Given the description of an element on the screen output the (x, y) to click on. 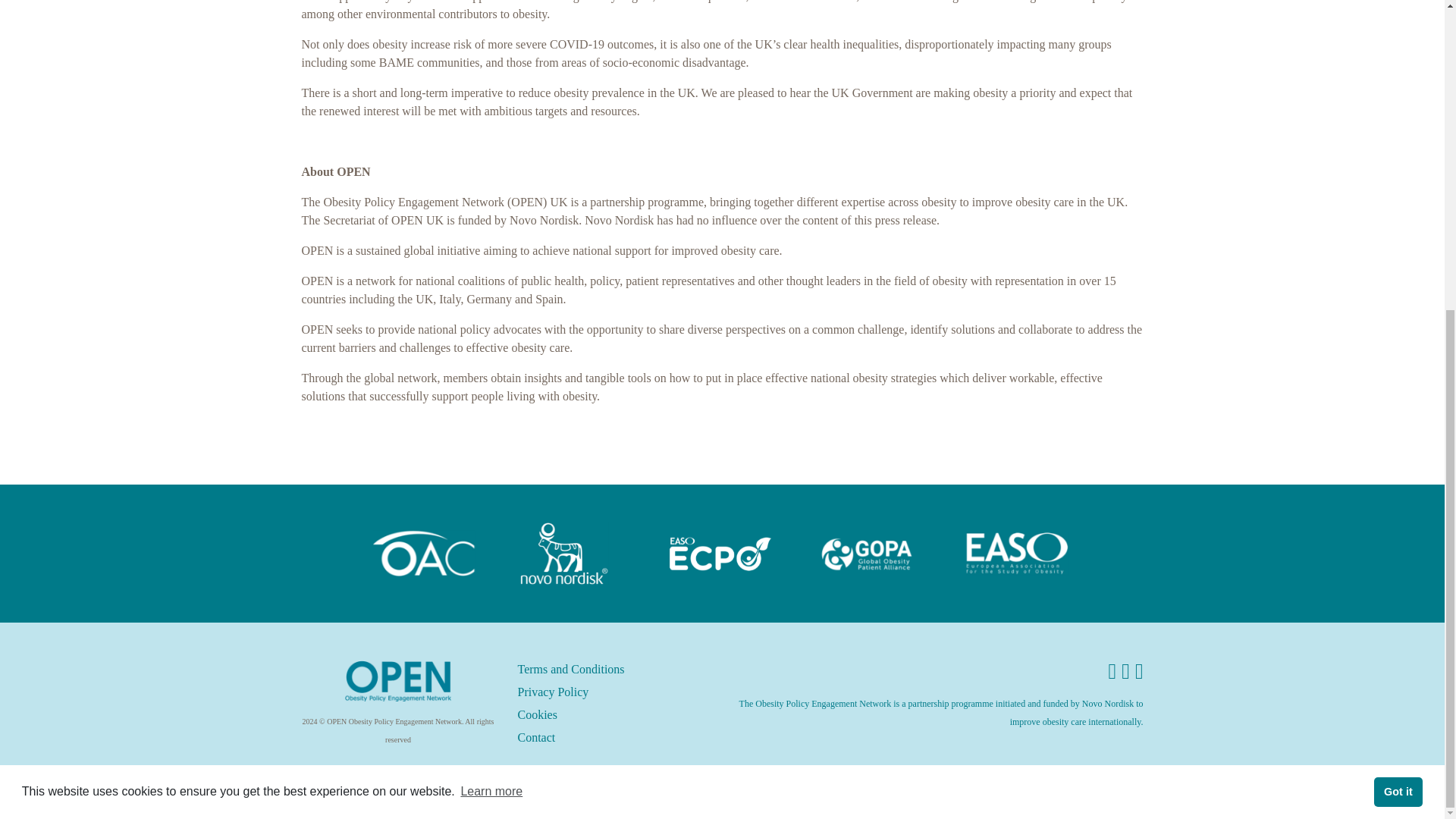
Terms and Conditions (570, 668)
Contact (535, 737)
Privacy Policy (552, 691)
Cookies (536, 714)
